Given the description of an element on the screen output the (x, y) to click on. 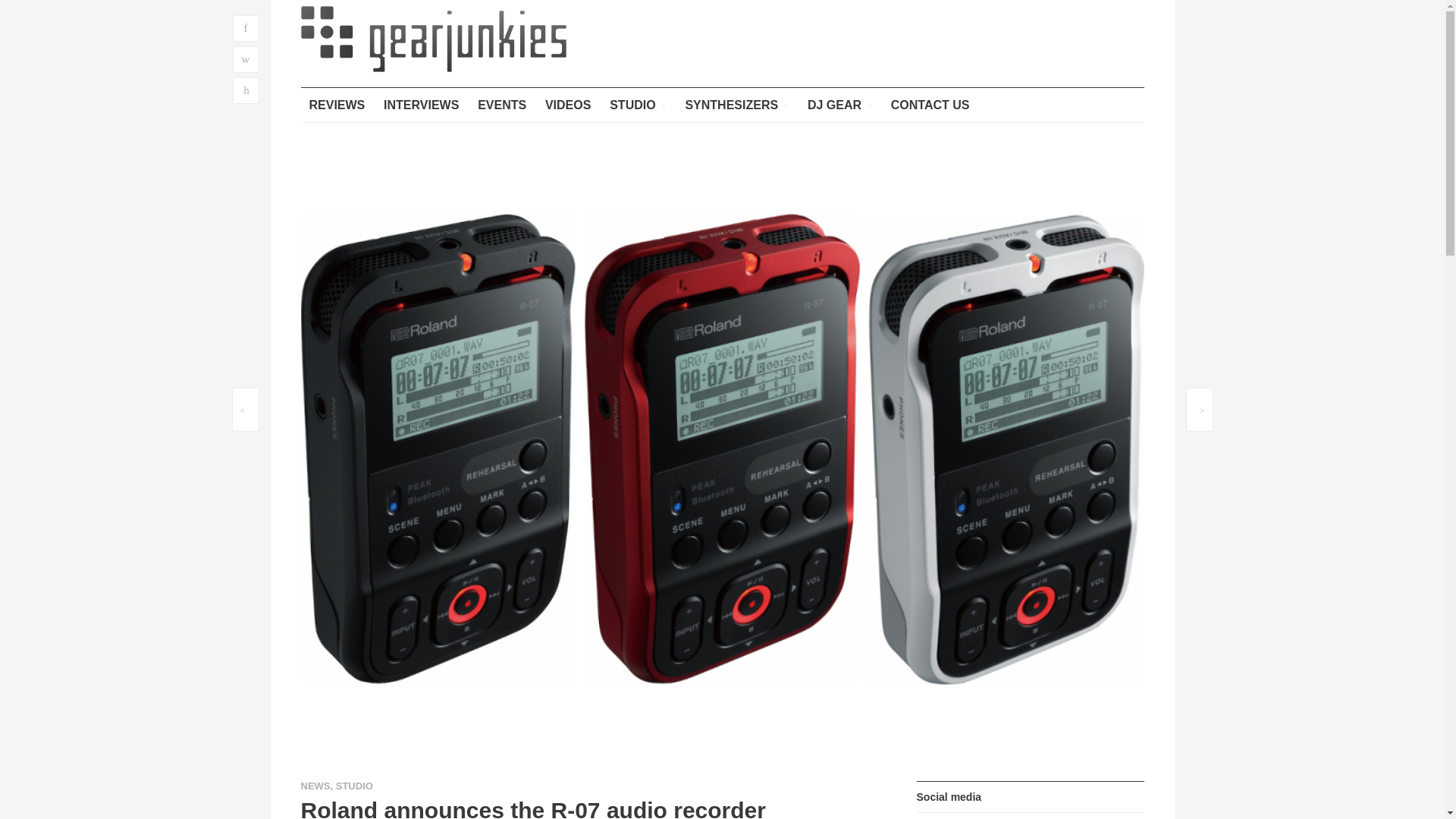
NEWS (314, 785)
CONTACT US (930, 104)
w (245, 58)
DJ GEAR (839, 104)
STUDIO (637, 104)
EVENTS (501, 104)
VIDEOS (567, 104)
REVIEWS (335, 104)
STUDIO (354, 785)
INTERVIEWS (421, 104)
